Given the description of an element on the screen output the (x, y) to click on. 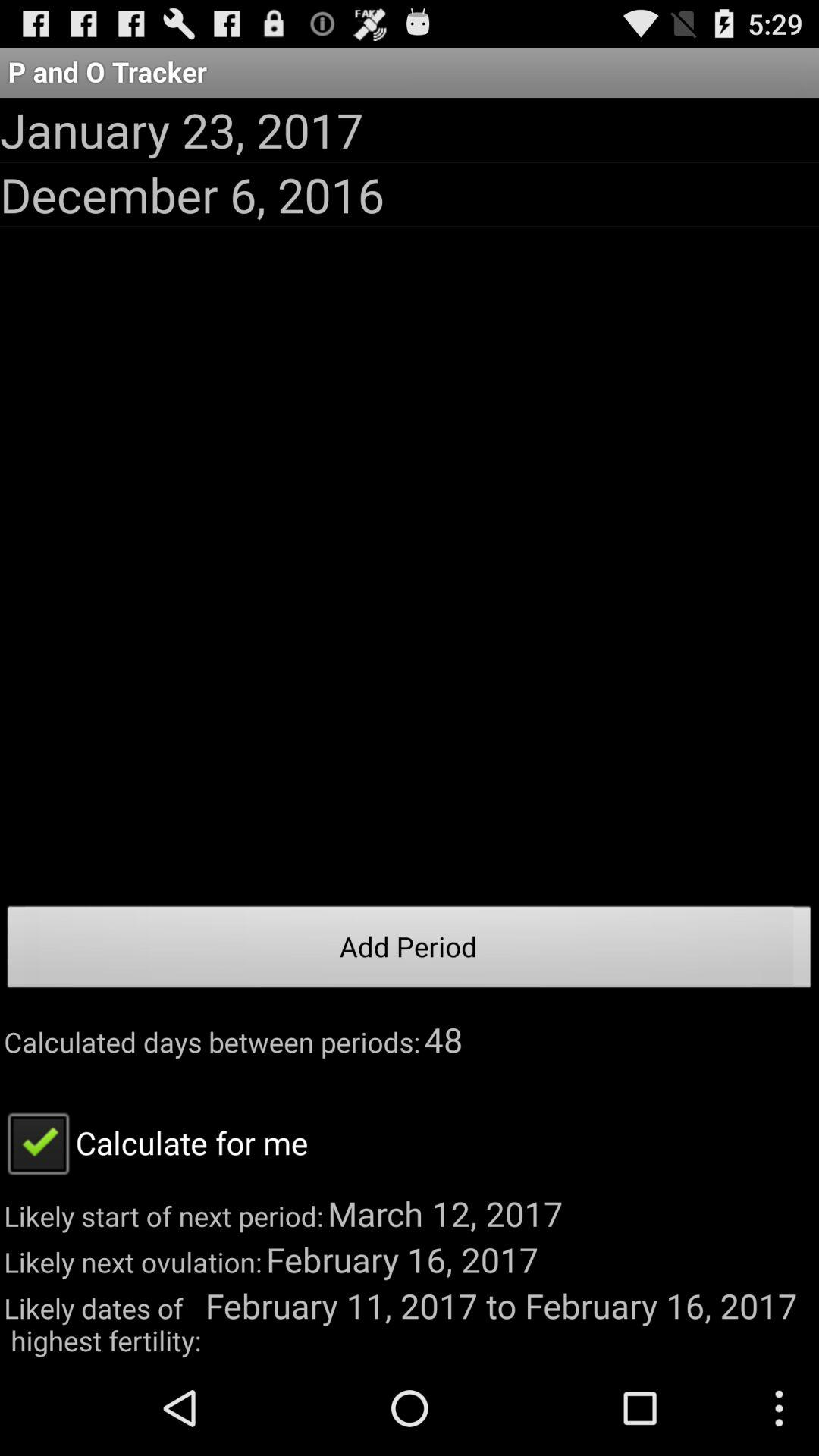
choose the item above december 6, 2016 app (181, 129)
